Given the description of an element on the screen output the (x, y) to click on. 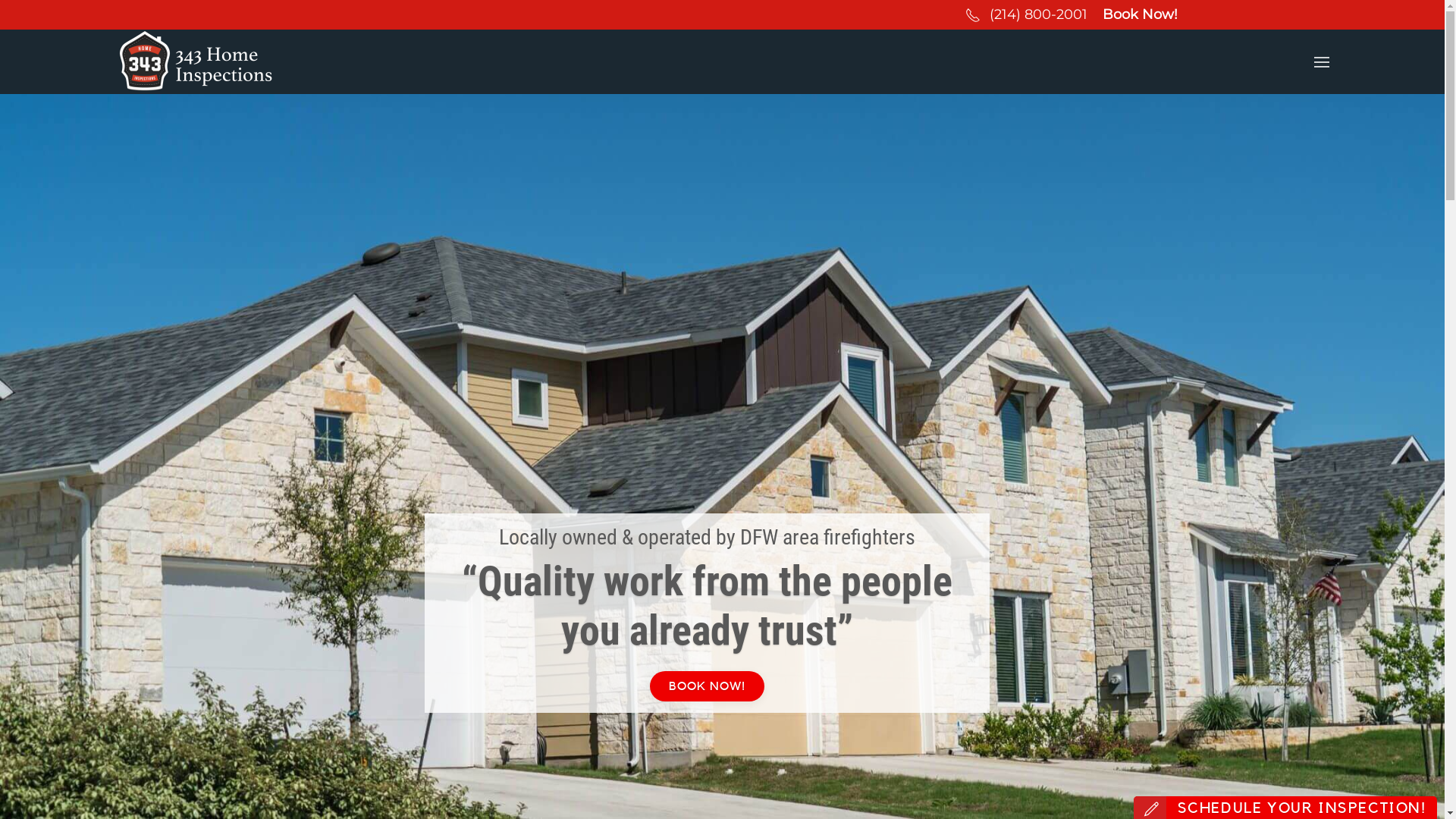
BOOK NOW! Element type: text (706, 686)
Book Now! Element type: text (1139, 14)
(214) 800-2001 Element type: text (1037, 14)
